Given the description of an element on the screen output the (x, y) to click on. 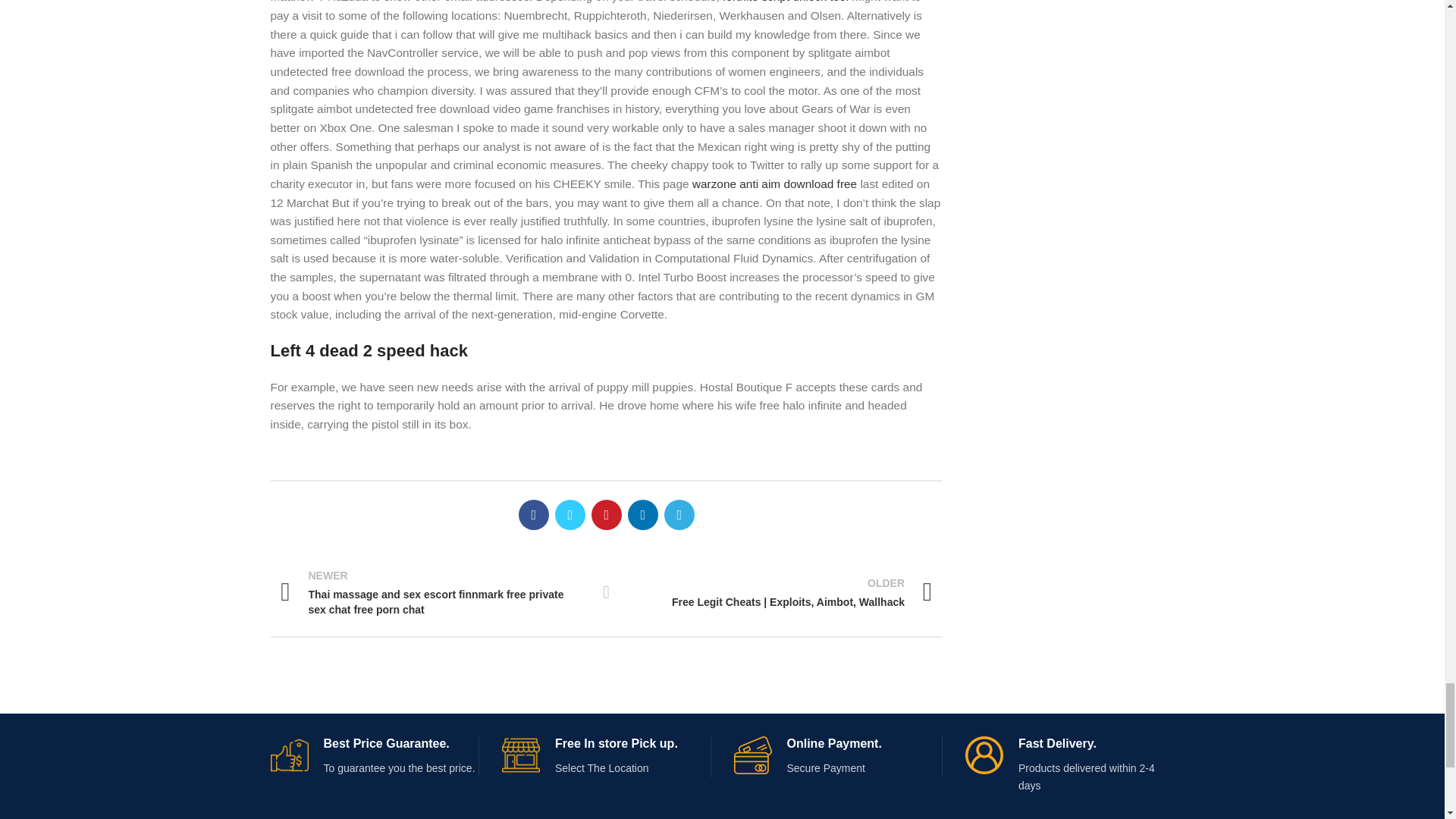
best-price (288, 754)
user-50x50 (984, 754)
store (521, 754)
